Given the description of an element on the screen output the (x, y) to click on. 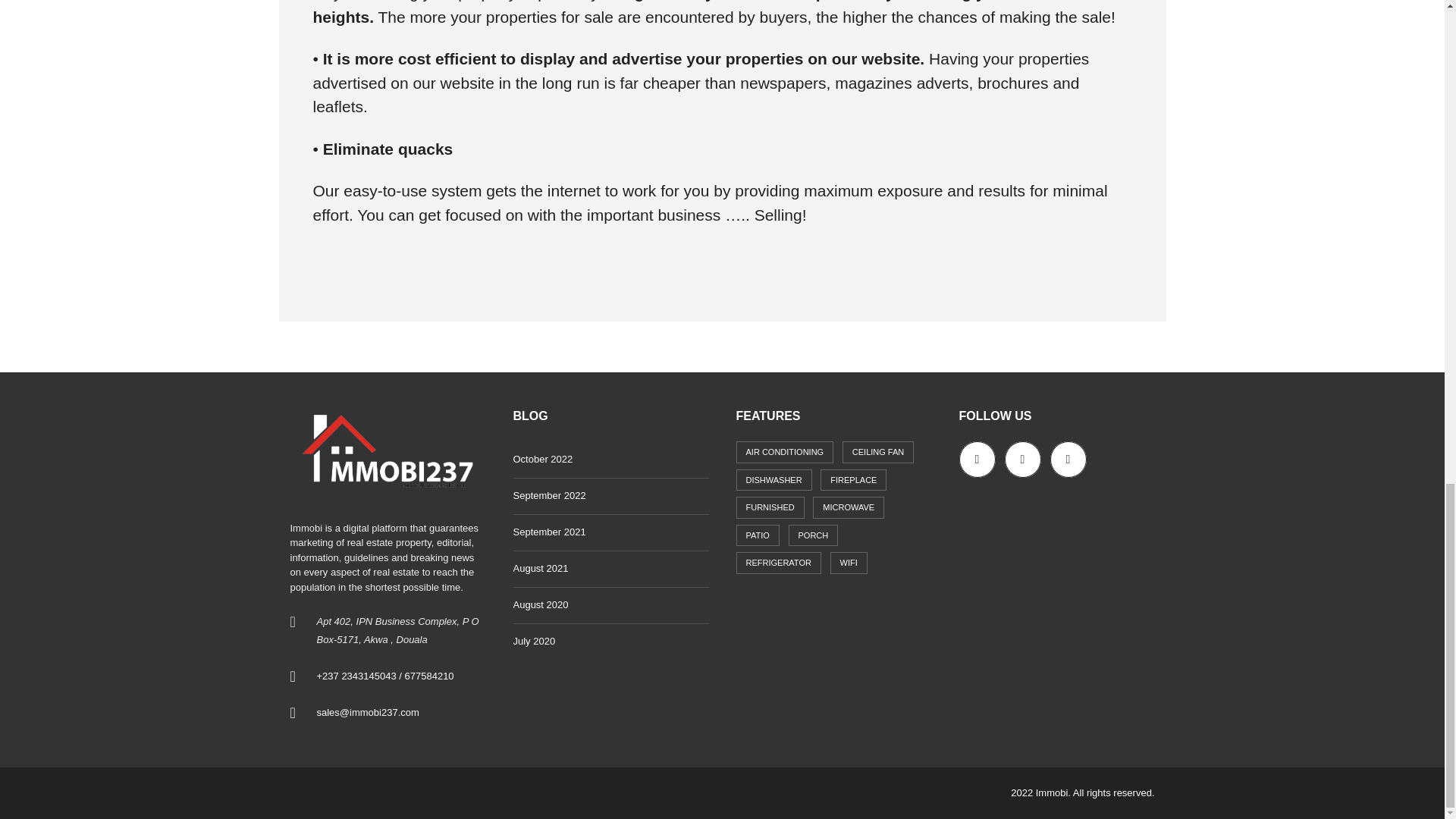
PORCH (813, 535)
PATIO (756, 535)
DISHWASHER (772, 480)
FIREPLACE (853, 480)
July 2020 (609, 641)
October 2022 (609, 459)
September 2021 (609, 532)
CEILING FAN (878, 452)
September 2022 (609, 496)
AIR CONDITIONING (783, 452)
August 2021 (609, 569)
MICROWAVE (847, 507)
August 2020 (609, 605)
FURNISHED (769, 507)
